Given the description of an element on the screen output the (x, y) to click on. 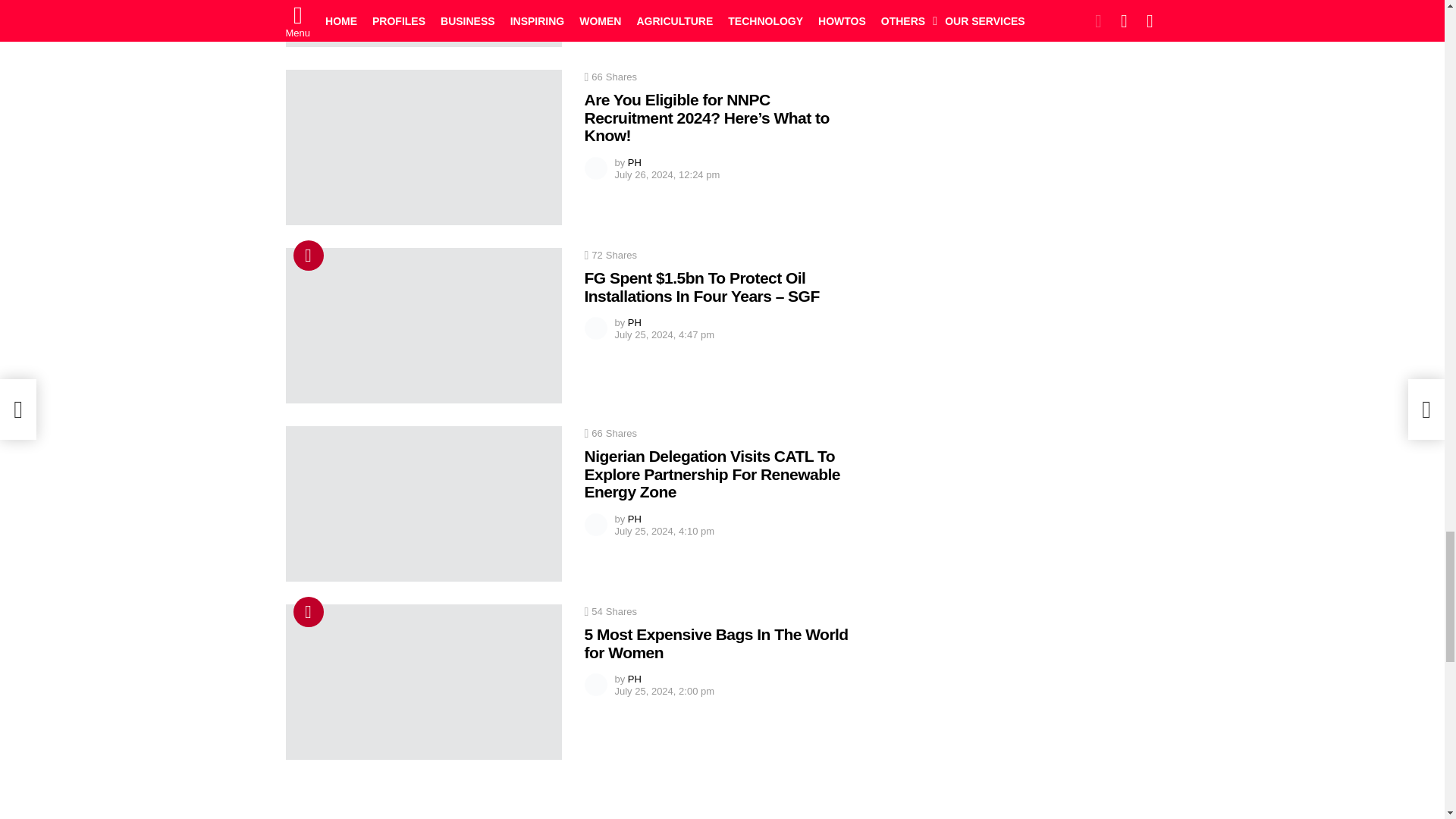
Top 3 Hidden Gem Cryptocurrencies Worth Investing In (422, 23)
